Given the description of an element on the screen output the (x, y) to click on. 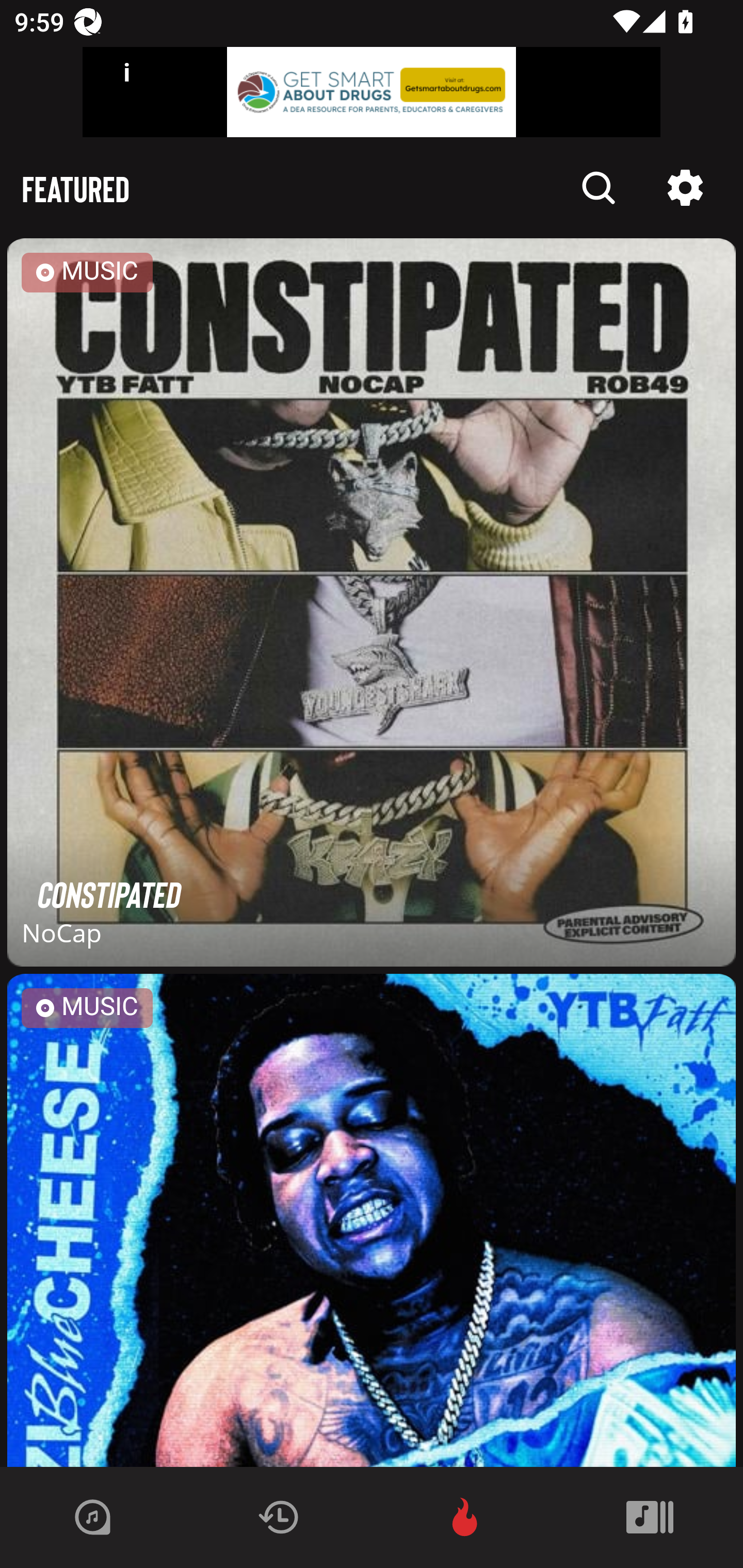
Description (598, 188)
Description (684, 188)
Description MUSIC Constipated NoCap (371, 605)
Description MUSIC (371, 1220)
